Given the description of an element on the screen output the (x, y) to click on. 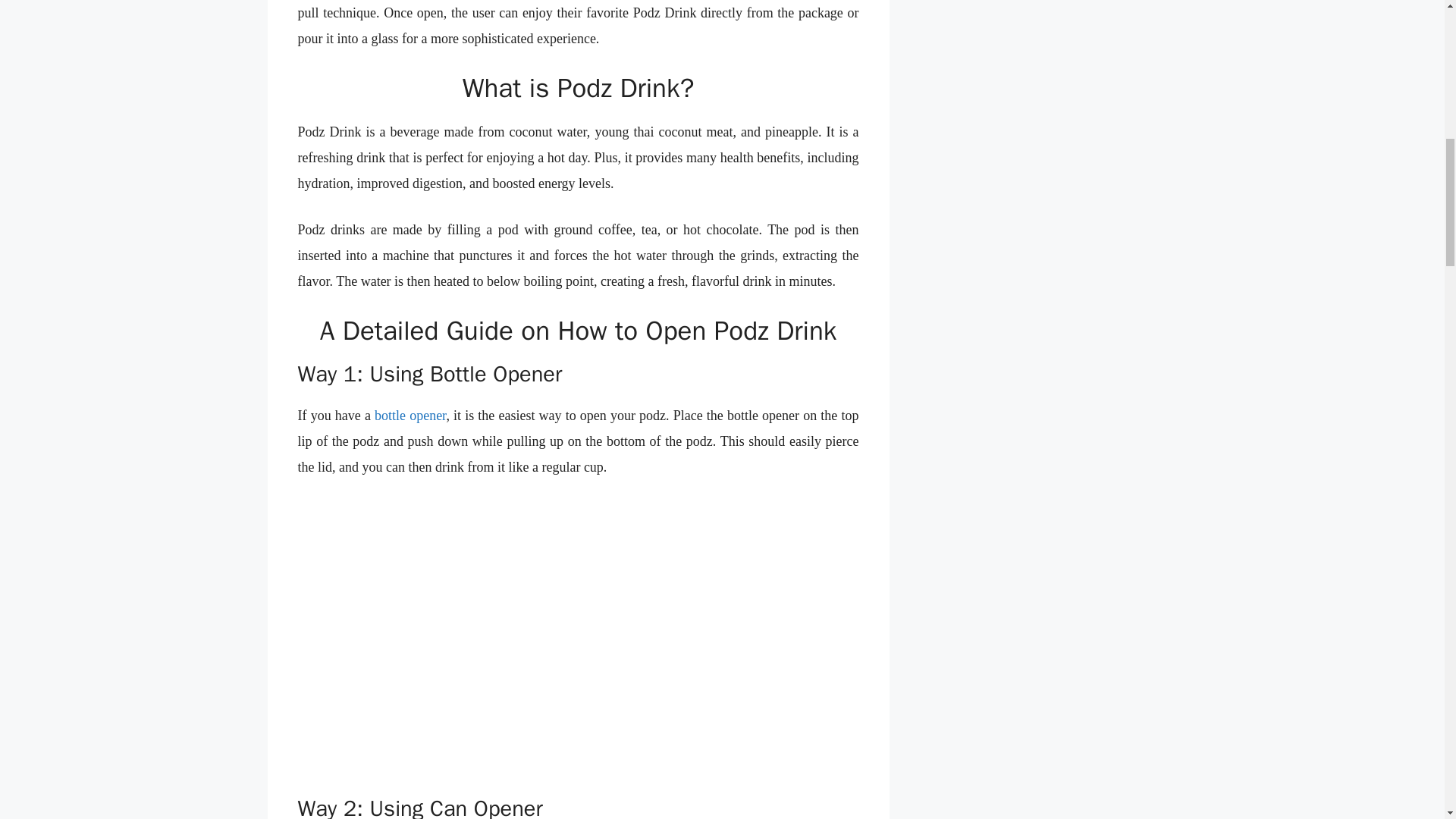
bottle opener (409, 415)
